Given the description of an element on the screen output the (x, y) to click on. 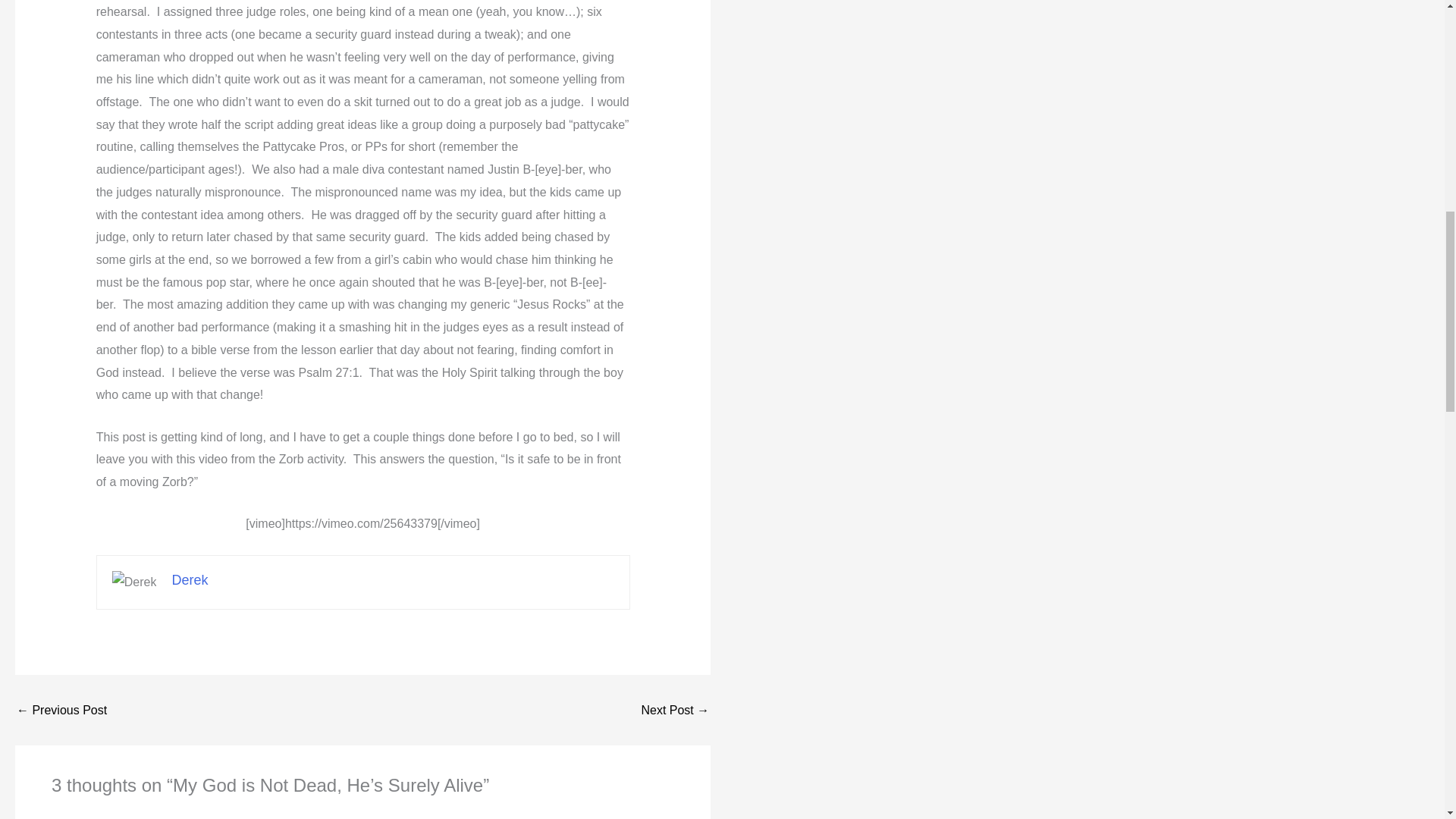
The beast had slept... (61, 710)
Derek (189, 580)
Cool Summer (674, 710)
